Given the description of an element on the screen output the (x, y) to click on. 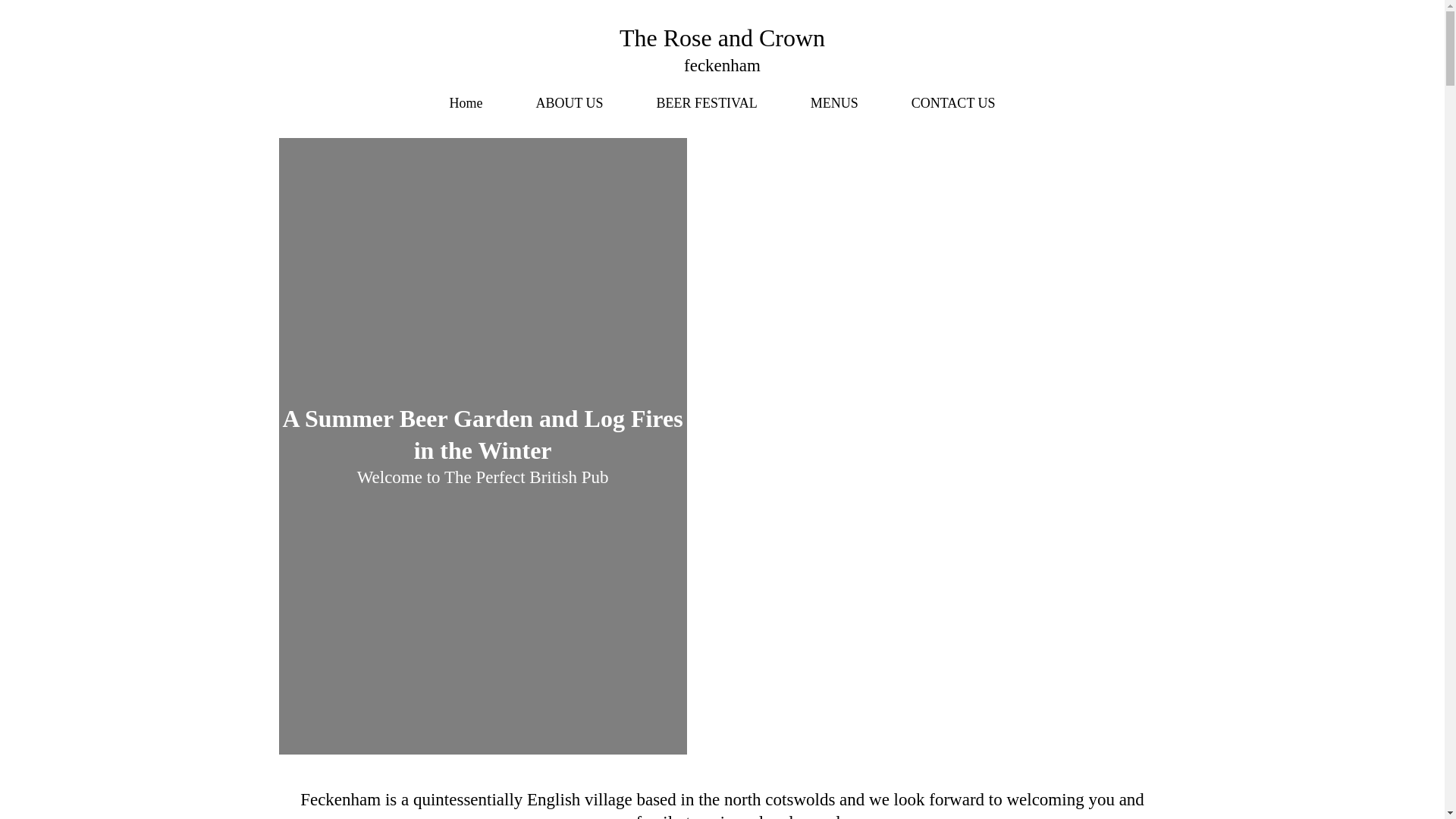
MENUS (834, 103)
CONTACT US (953, 103)
BEER FESTIVAL (707, 103)
ABOUT US (568, 103)
Home (465, 103)
